Given the description of an element on the screen output the (x, y) to click on. 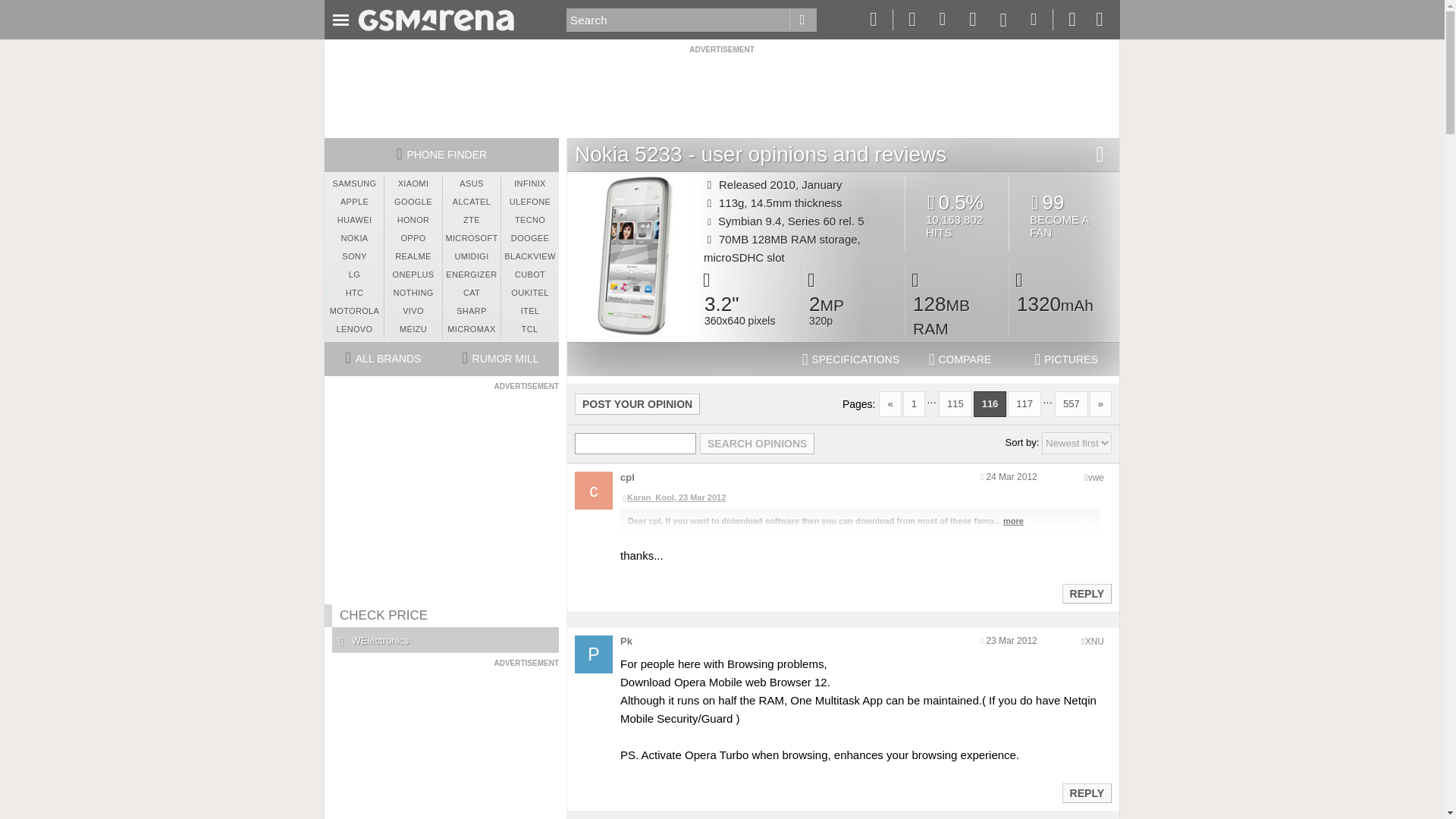
Reply to this post (1086, 793)
Encoded anonymized location (1095, 477)
PICTURES (1066, 359)
Search opinions (756, 443)
POST YOUR OPINION (637, 403)
Nokia 5233 phone specifications (850, 359)
SPECIFICATIONS (850, 359)
Go (802, 19)
COMPARE (960, 359)
